Given the description of an element on the screen output the (x, y) to click on. 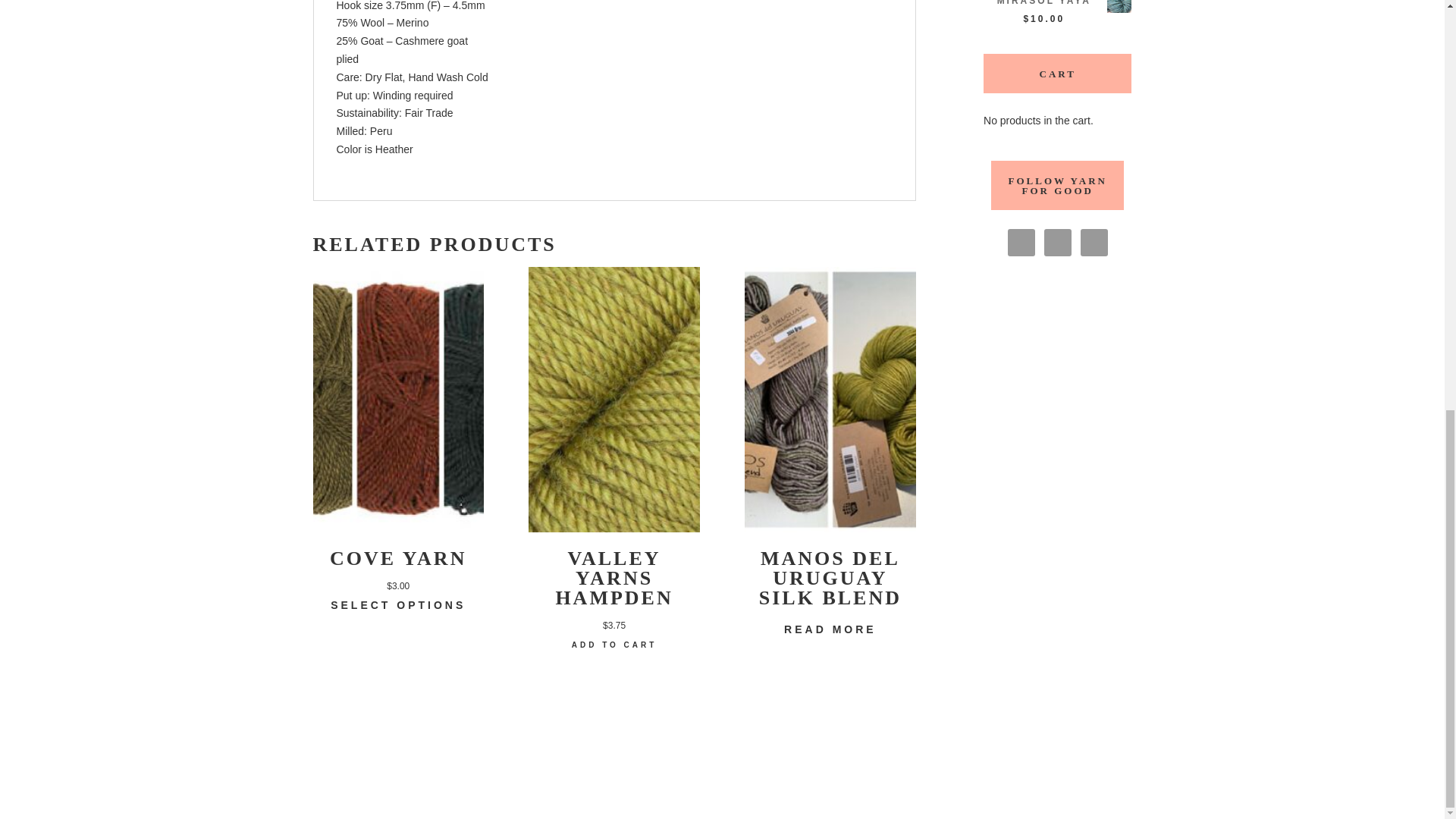
MIRASOL YAYA (1057, 5)
SELECT OPTIONS (398, 605)
READ MORE (829, 630)
ADD TO CART (614, 644)
